Given the description of an element on the screen output the (x, y) to click on. 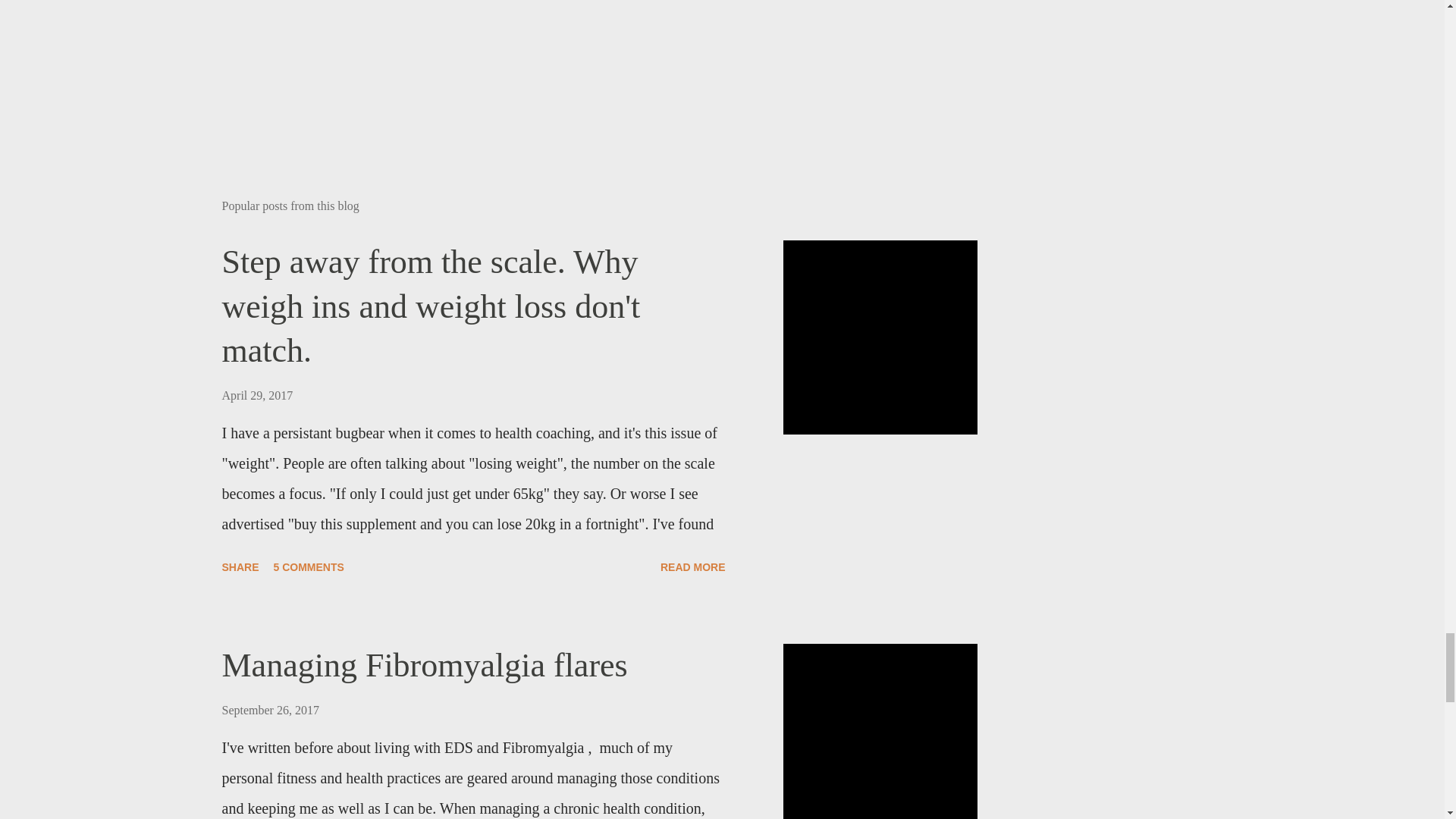
permanent link (256, 395)
